Given the description of an element on the screen output the (x, y) to click on. 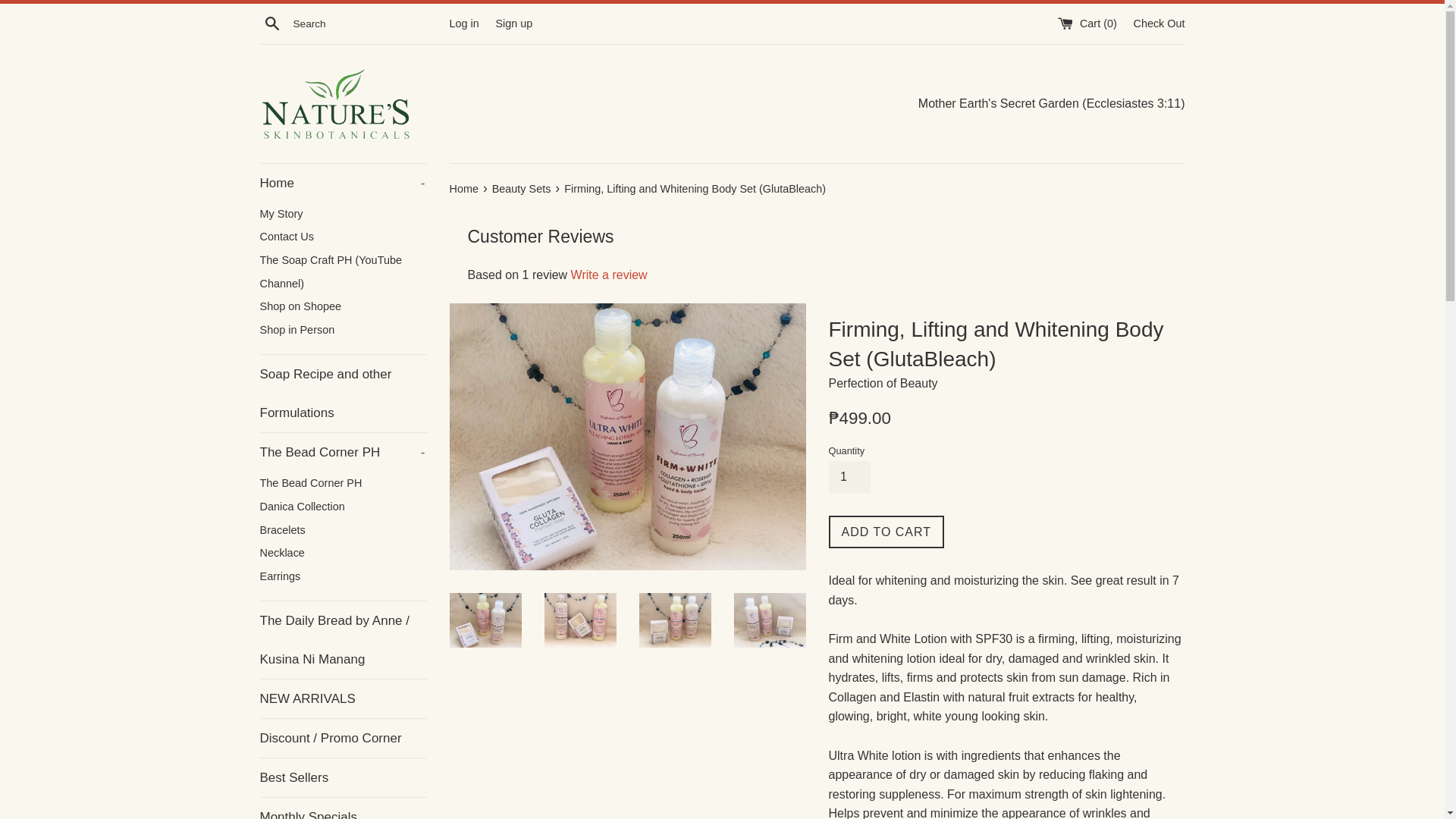
Best Sellers (342, 777)
Sign up (513, 22)
Necklace (342, 553)
Danica Collection (342, 506)
Contact Us (342, 452)
Earrings (342, 236)
My Story (342, 576)
Shop on Shopee (342, 214)
The Bead Corner PH (342, 306)
Check Out (342, 483)
Soap Recipe and other Formulations (1159, 22)
Monthly Specials (342, 393)
Bracelets (342, 808)
